Given the description of an element on the screen output the (x, y) to click on. 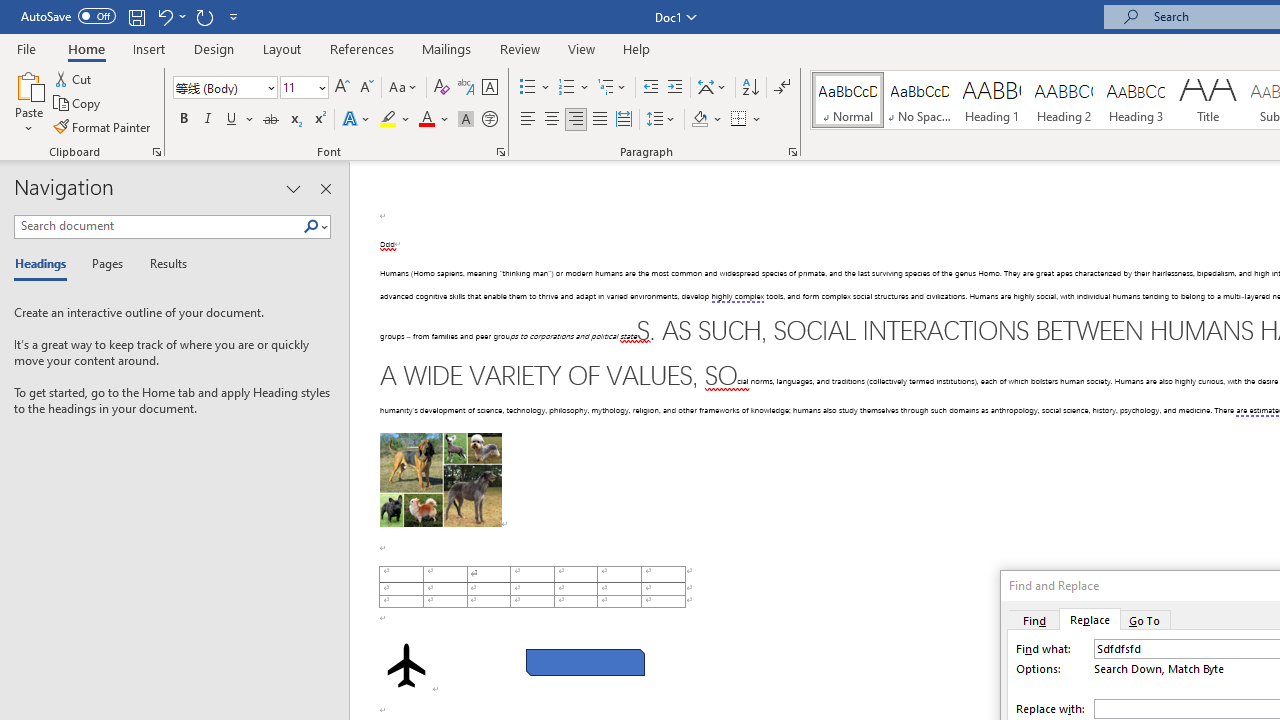
Font... (500, 151)
Text Highlight Color Yellow (388, 119)
Numbering (573, 87)
Paste (28, 102)
Class: NetUIImage (311, 226)
Justify (599, 119)
Insert (149, 48)
Bullets (527, 87)
Font (218, 87)
Clear Formatting (442, 87)
Enclose Characters... (489, 119)
Mailings (447, 48)
Quick Access Toolbar (131, 16)
Headings (45, 264)
